Given the description of an element on the screen output the (x, y) to click on. 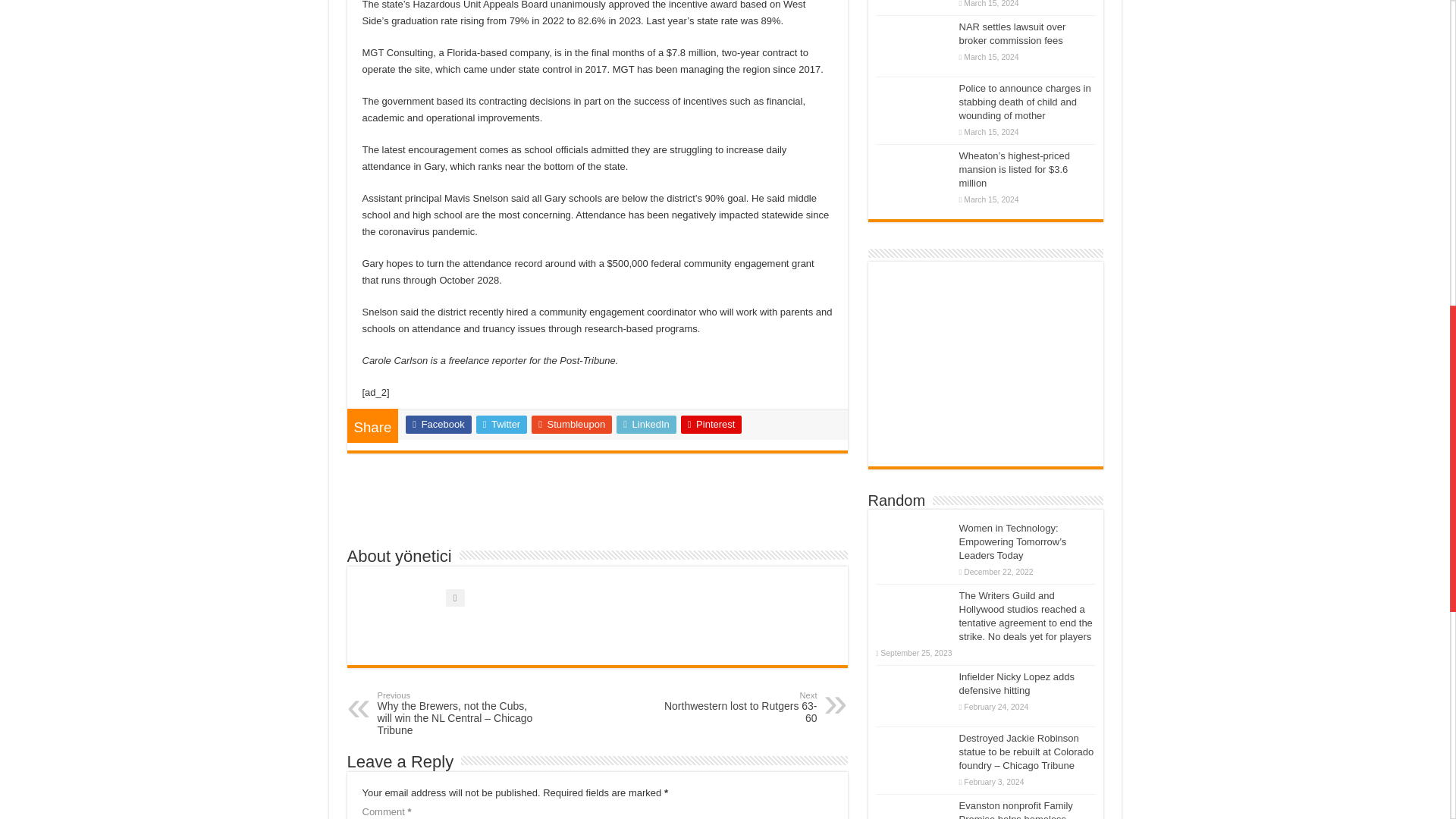
Stumbleupon (571, 424)
Pinterest (711, 424)
LinkedIn (646, 424)
Twitter (501, 424)
Advertisement (738, 707)
Facebook (597, 506)
